Given the description of an element on the screen output the (x, y) to click on. 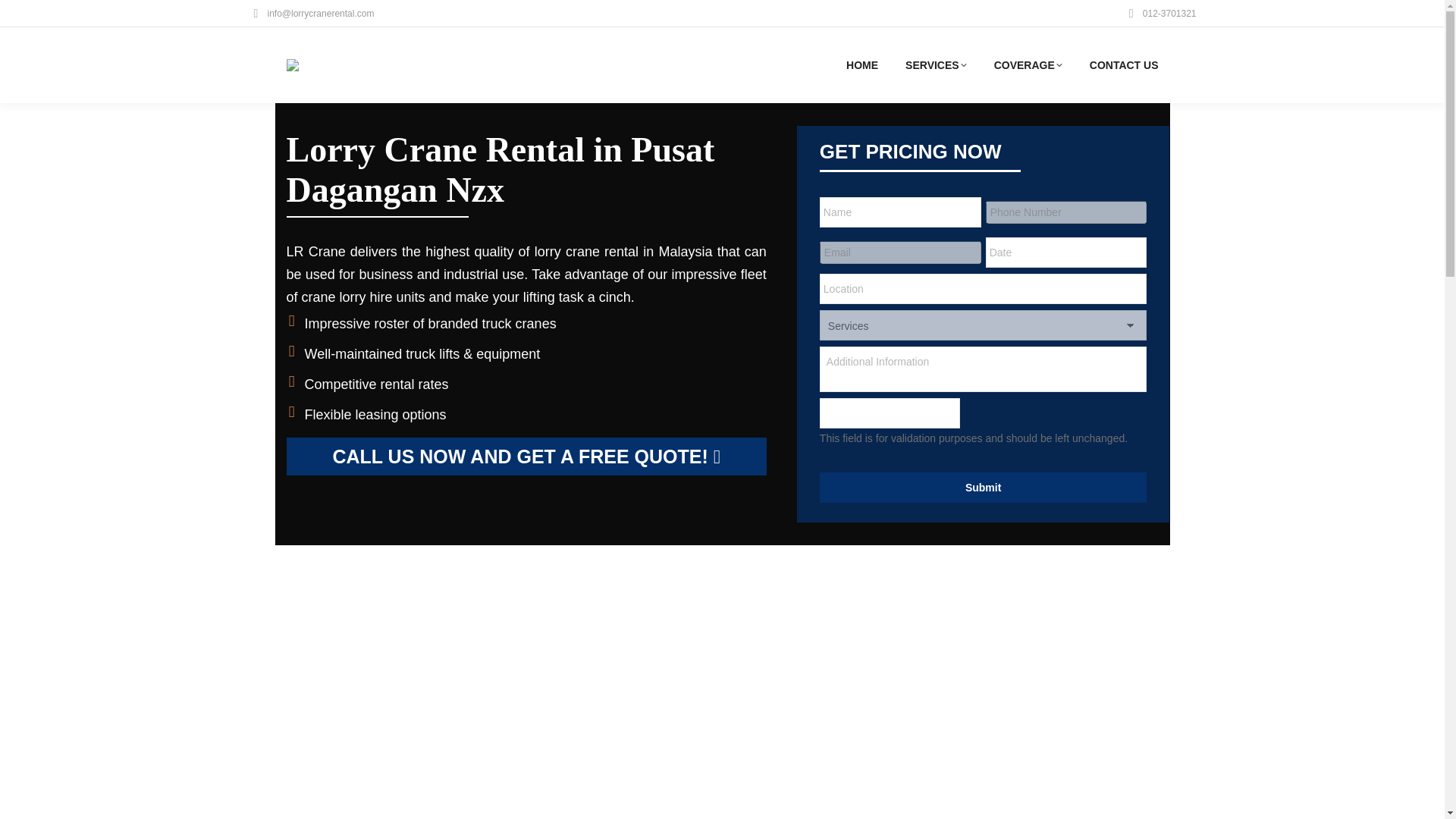
COVERAGE (1028, 65)
SERVICES (935, 65)
HOME (861, 65)
Submit (983, 487)
012-3701321 (1160, 13)
